Given the description of an element on the screen output the (x, y) to click on. 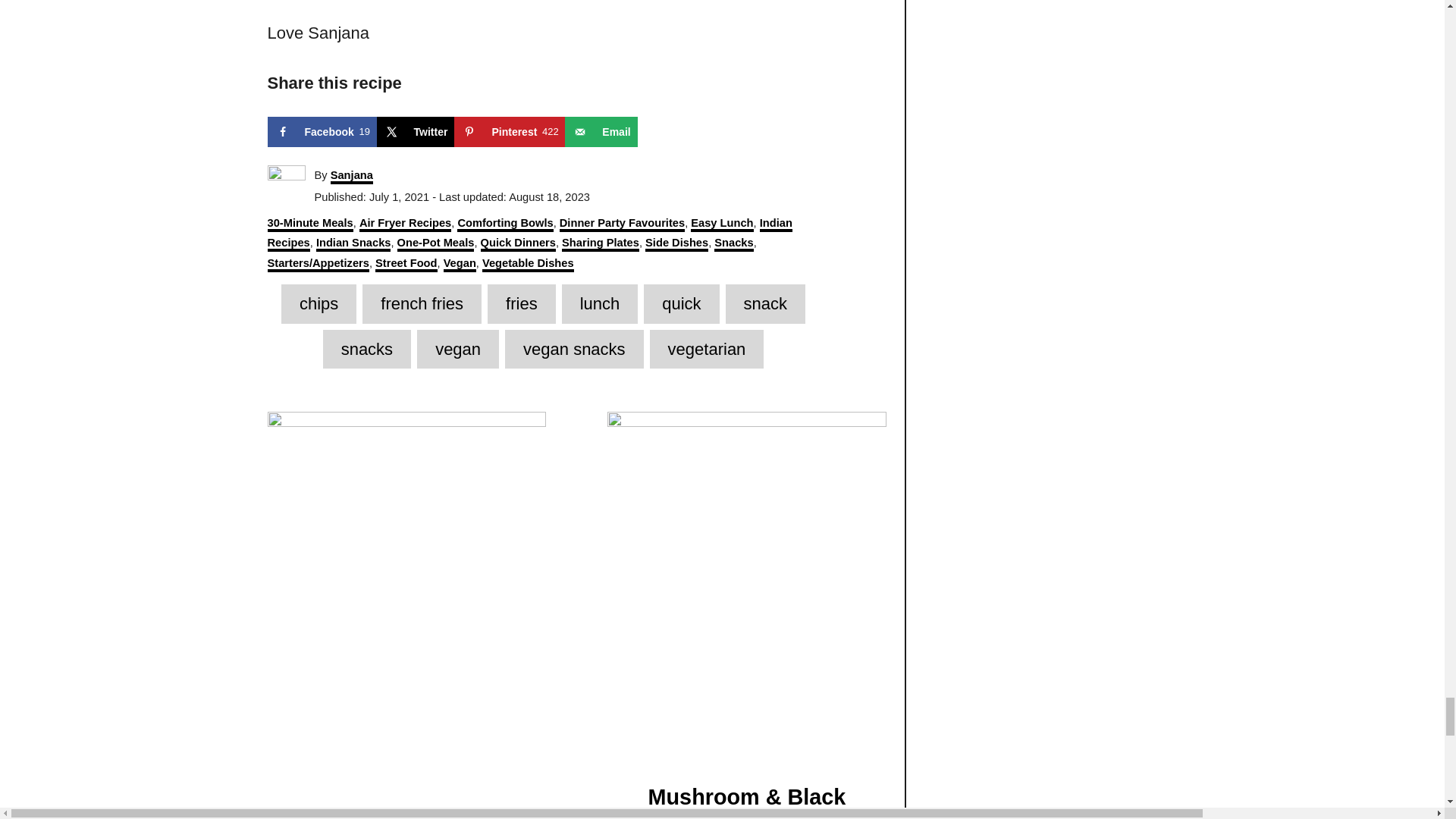
Share on X (320, 132)
Send over email (415, 132)
Save to Pinterest (600, 132)
Share on Facebook (509, 132)
